Given the description of an element on the screen output the (x, y) to click on. 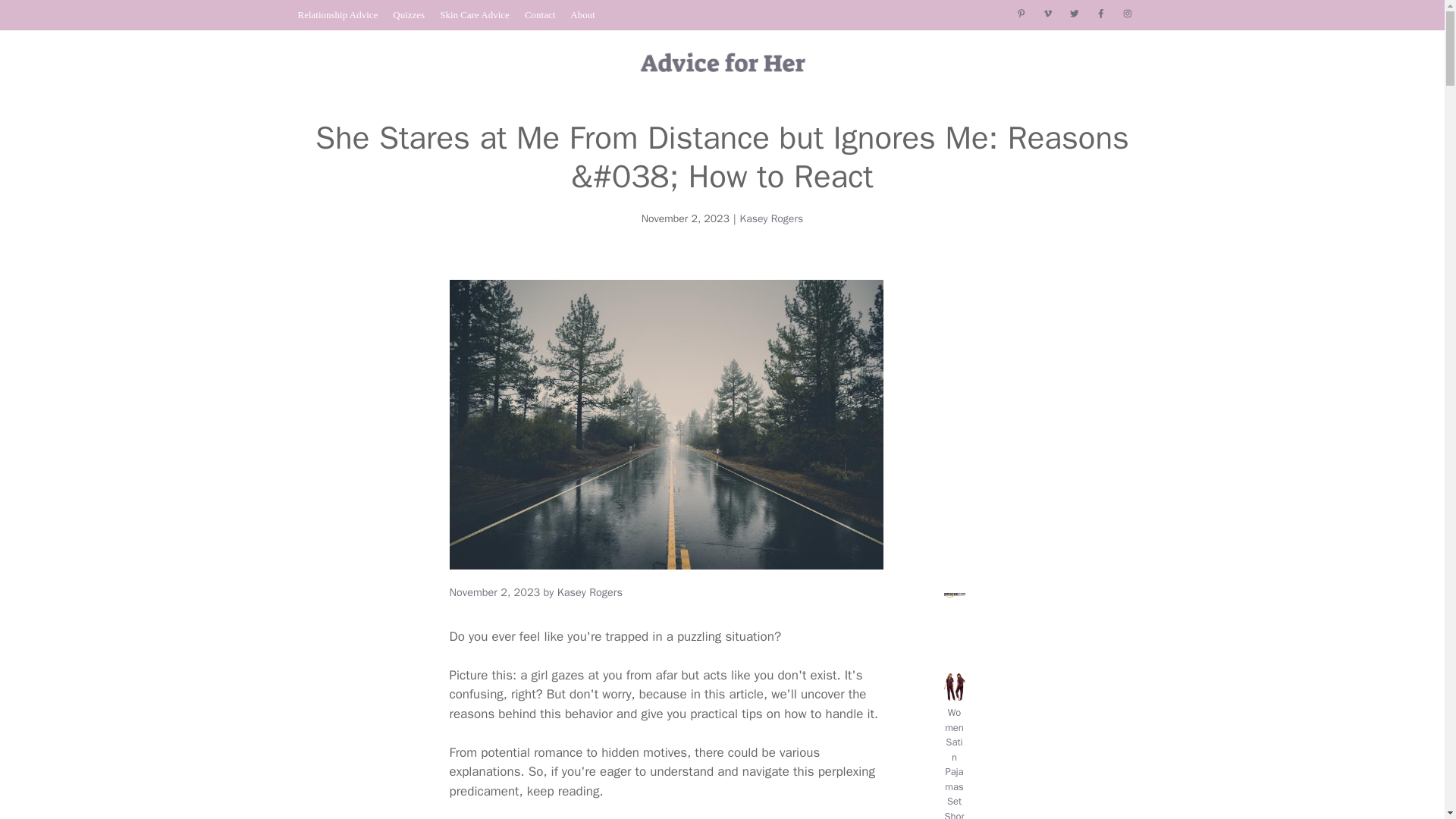
Kasey Rogers (590, 591)
Kasey Rogers (771, 218)
About (582, 14)
View all posts by Kasey Rogers (590, 591)
Quizzes (409, 14)
Relationship Advice (337, 14)
Contact (539, 14)
Skin Care Advice (474, 14)
